Given the description of an element on the screen output the (x, y) to click on. 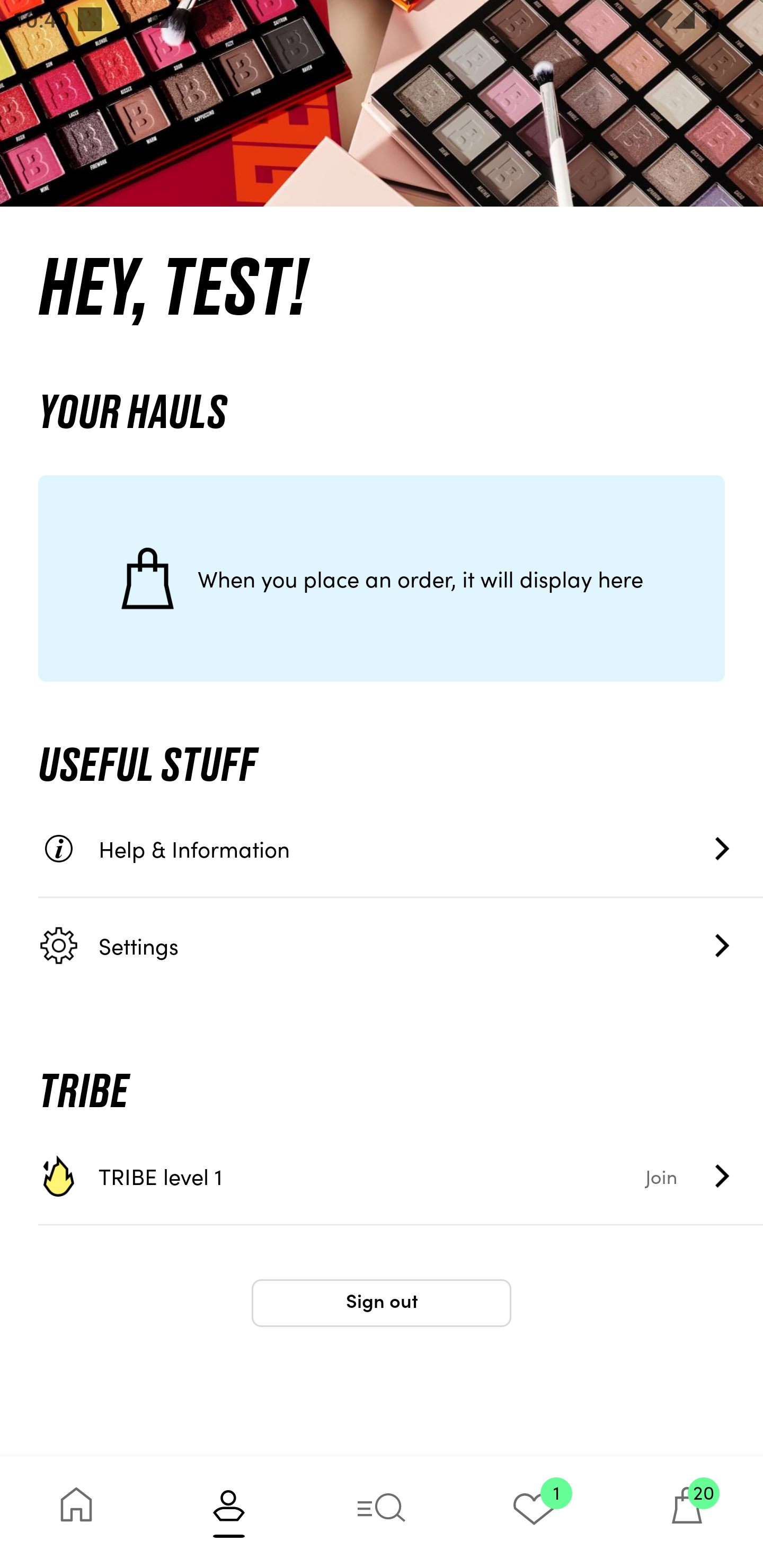
Help & Information (400, 848)
Settings (400, 945)
TRIBE level 1 Join (400, 1175)
Sign out (381, 1302)
1 (533, 1512)
20 (686, 1512)
